Given the description of an element on the screen output the (x, y) to click on. 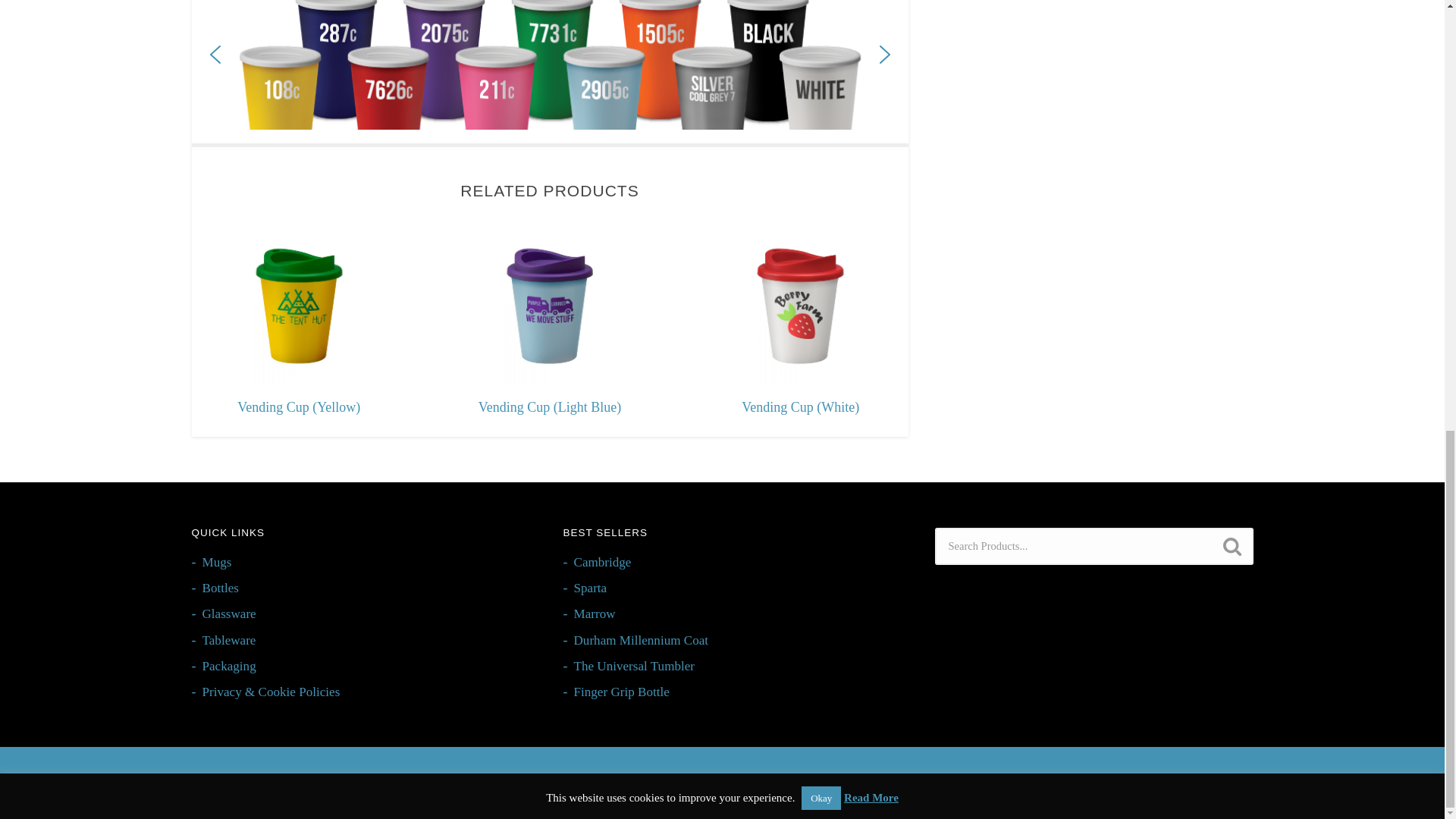
Search (1230, 546)
Search (1230, 546)
To the top (1240, 782)
